Given the description of an element on the screen output the (x, y) to click on. 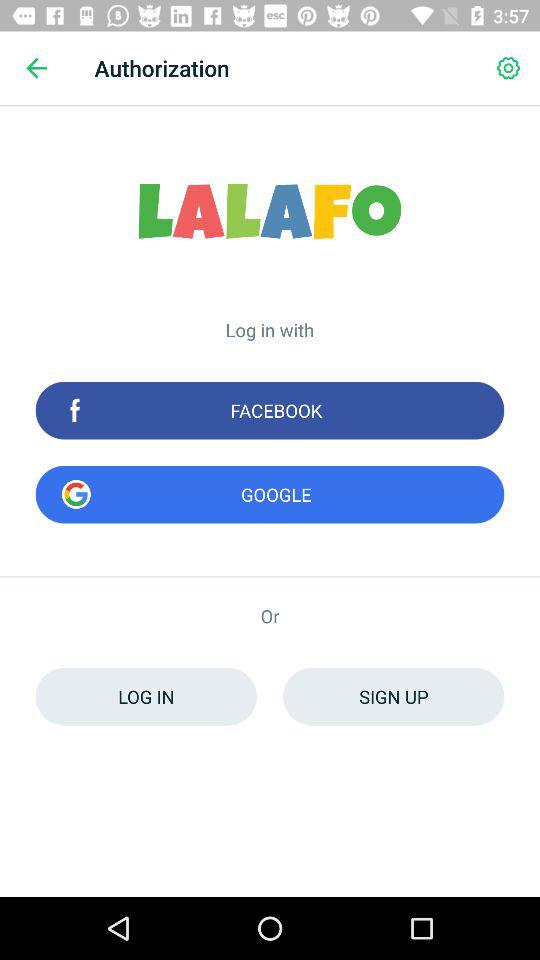
launch the icon to the right of the authorization (508, 67)
